Given the description of an element on the screen output the (x, y) to click on. 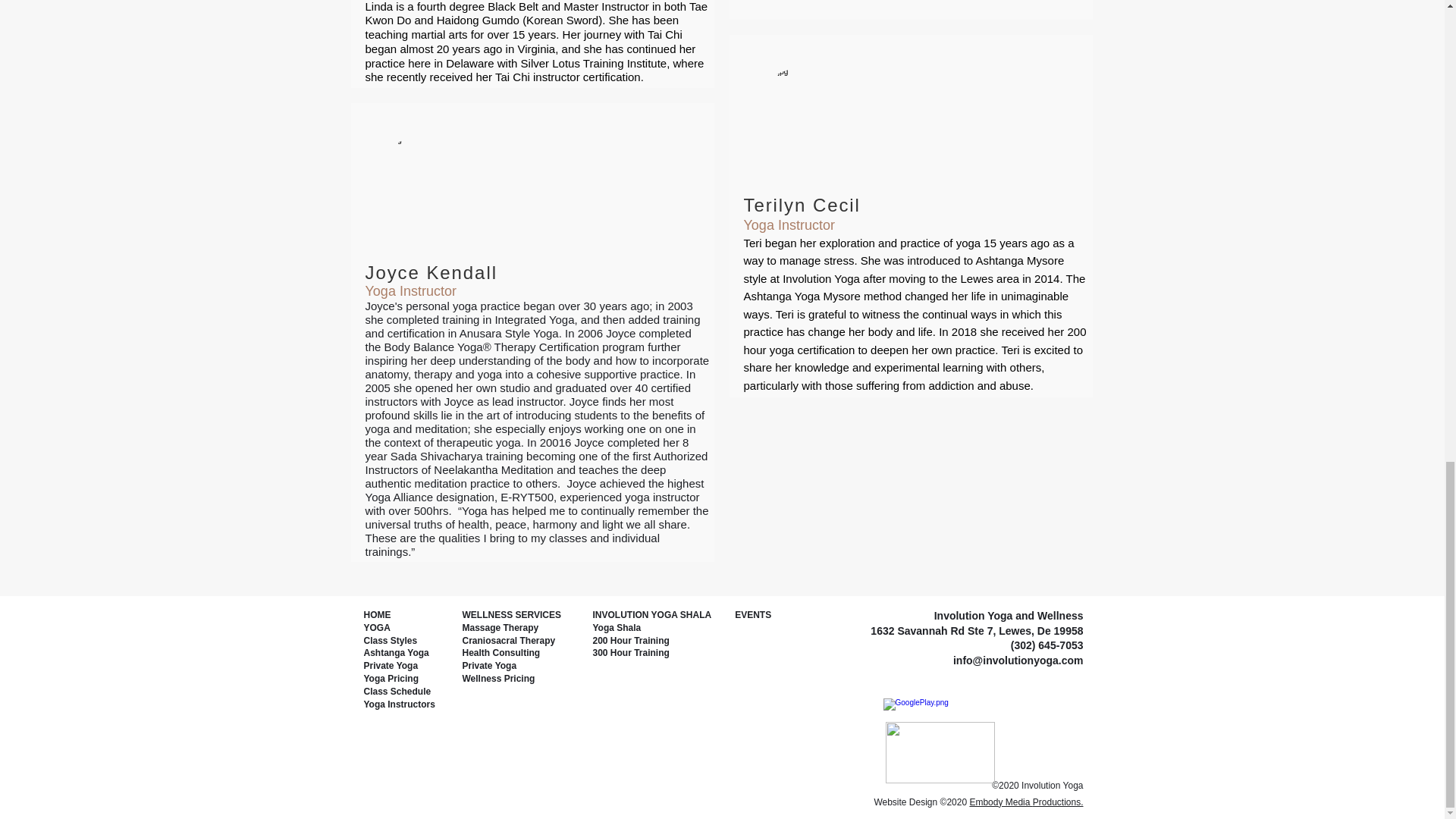
300 Hour Training (630, 652)
INVOLUTION YOGA SHALA (651, 614)
Embody Media Productions. (1026, 801)
Wellness Pricing (499, 678)
YOGA (377, 627)
WELLNESS SERVICES (511, 614)
  EVENTS (750, 614)
HOME (377, 614)
Apple.png (939, 751)
Class Styles (390, 640)
Ashtanga Yoga (396, 652)
Private Yoga (489, 665)
Yoga Pricing (391, 678)
Private Yoga (391, 665)
Massage Therapy (500, 627)
